Given the description of an element on the screen output the (x, y) to click on. 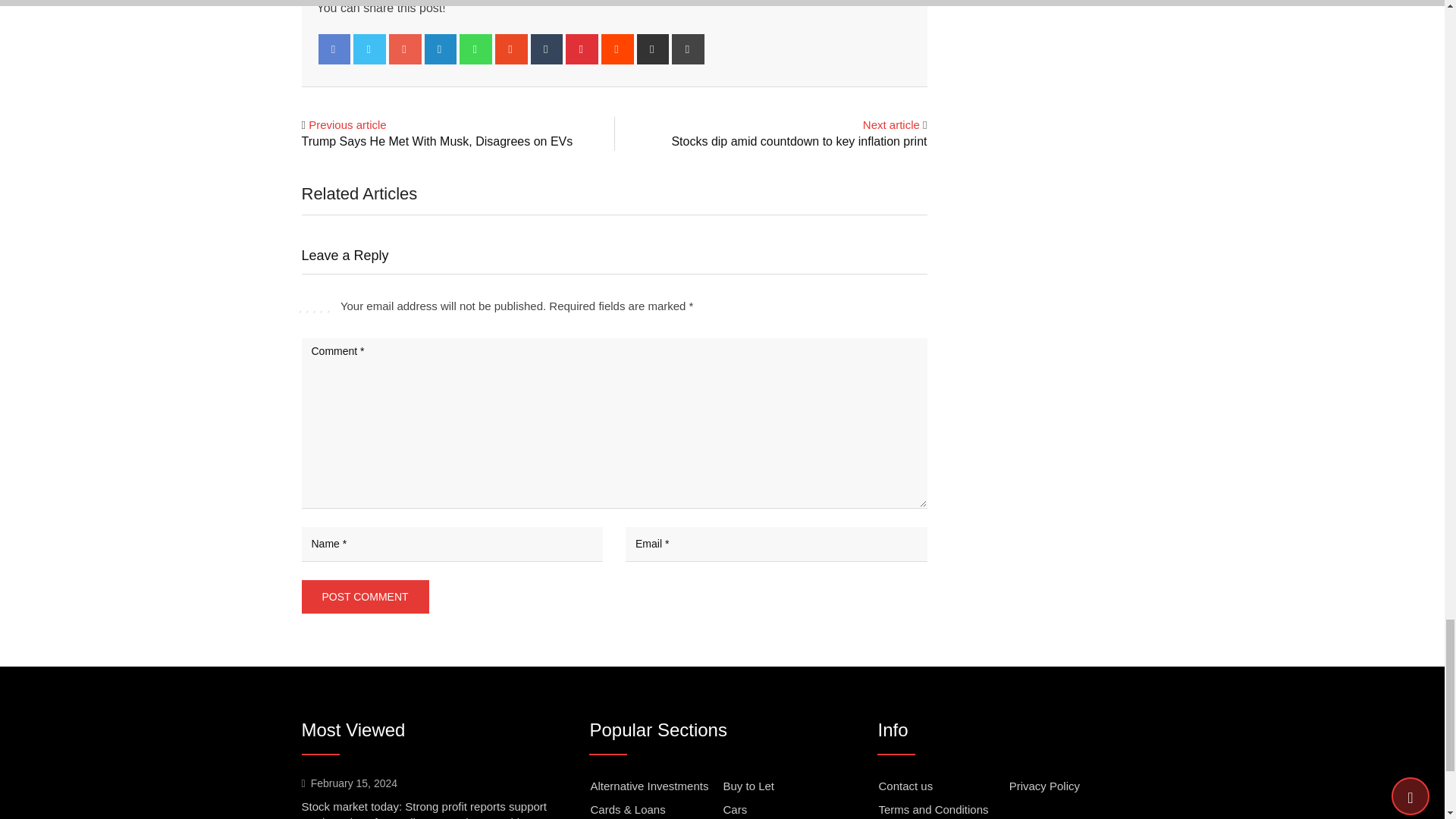
Post Comment (365, 596)
